Given the description of an element on the screen output the (x, y) to click on. 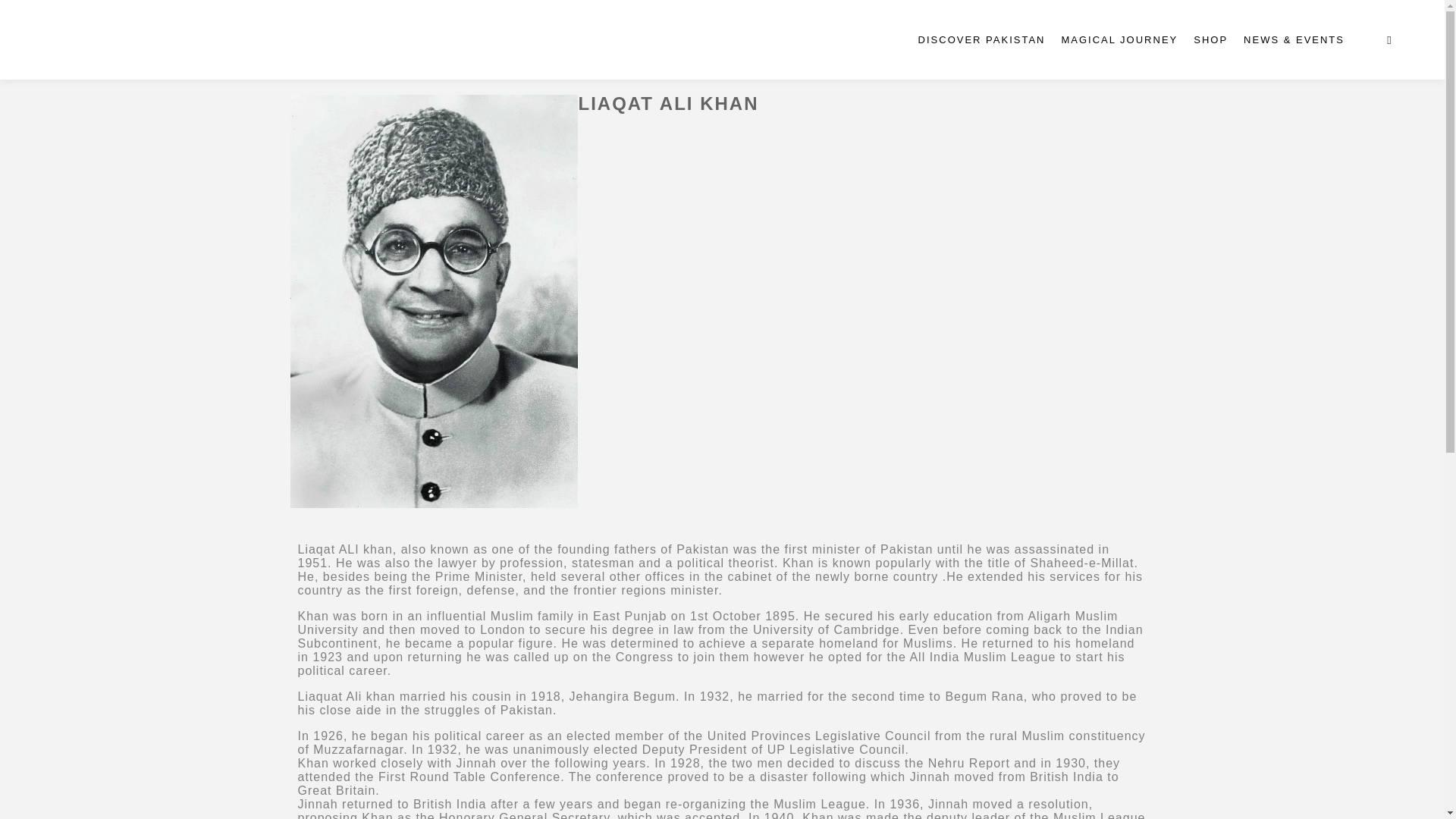
Fascinating Pakistan (106, 39)
MAGICAL JOURNEY (1118, 39)
DISCOVER PAKISTAN (981, 39)
Search (1389, 39)
